Given the description of an element on the screen output the (x, y) to click on. 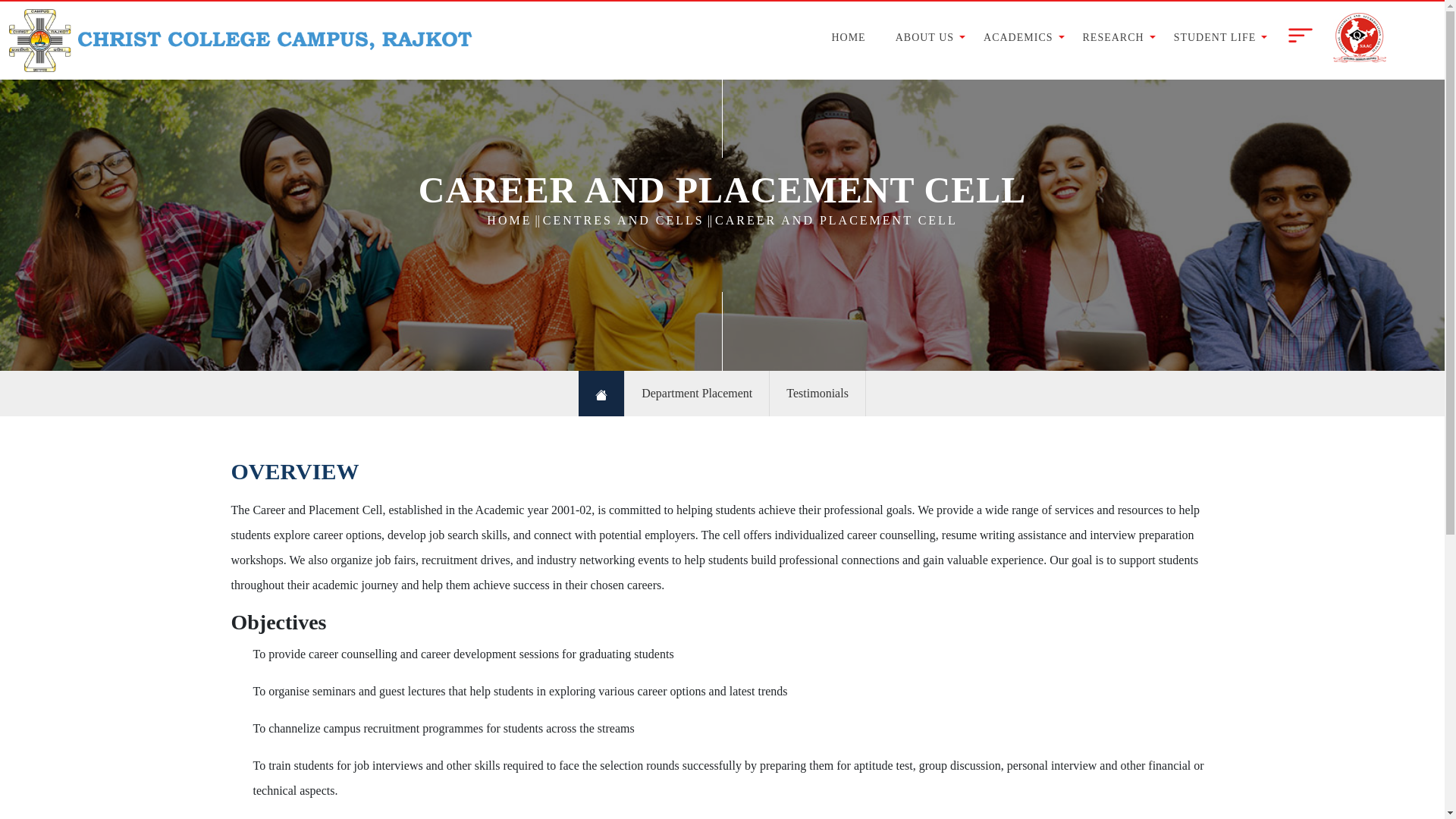
HOME (850, 37)
ABOUT US (927, 37)
RESEARCH (1115, 37)
ACADEMICS (1020, 37)
